Given the description of an element on the screen output the (x, y) to click on. 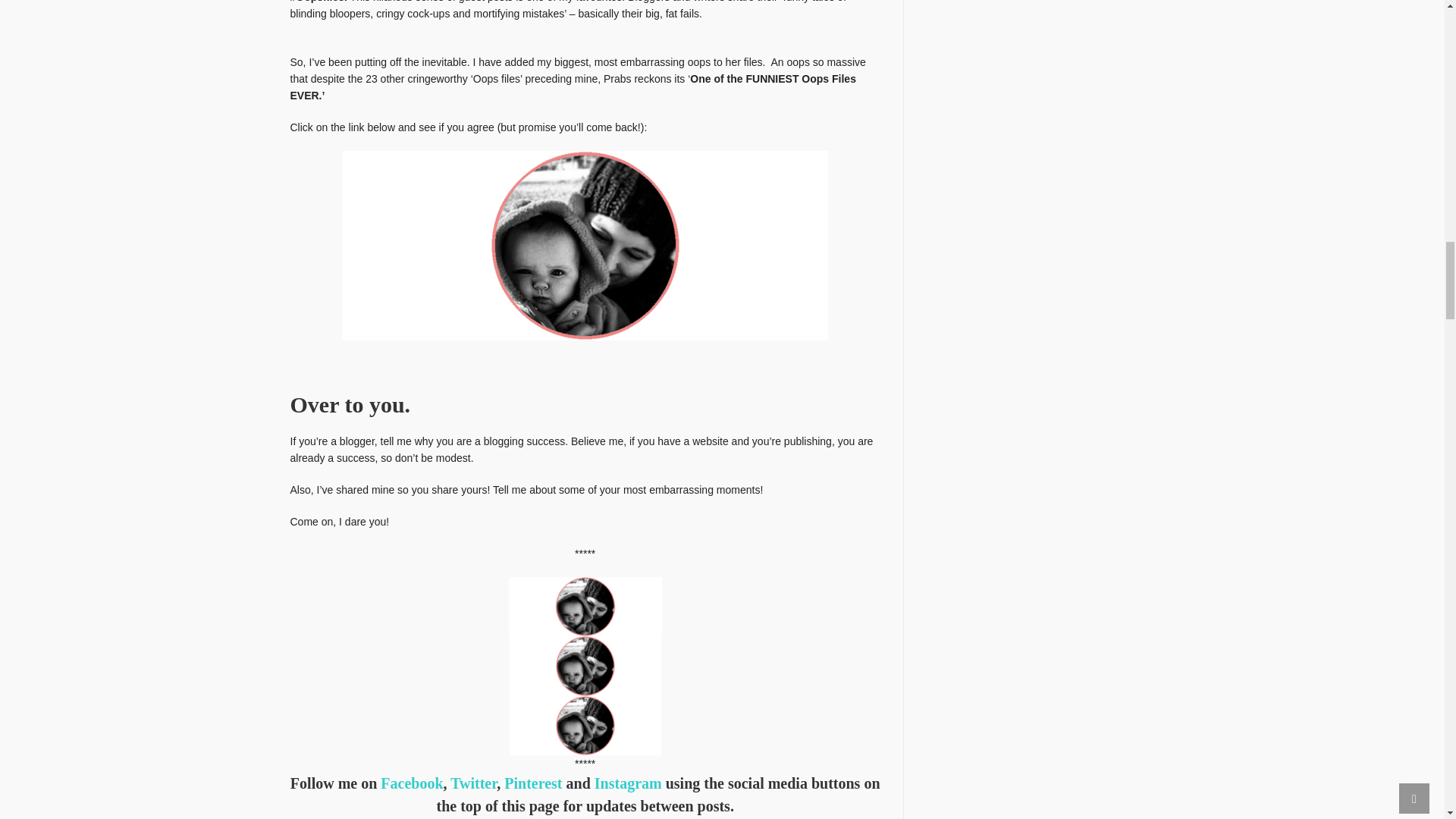
A Mum Track Mind (585, 664)
Pinterest (532, 782)
Keep Calm and Carry On Linking Sunday (585, 724)
Post Comment Love (585, 605)
Twitter (472, 782)
Facebook (411, 782)
Instagram (628, 782)
